Given the description of an element on the screen output the (x, y) to click on. 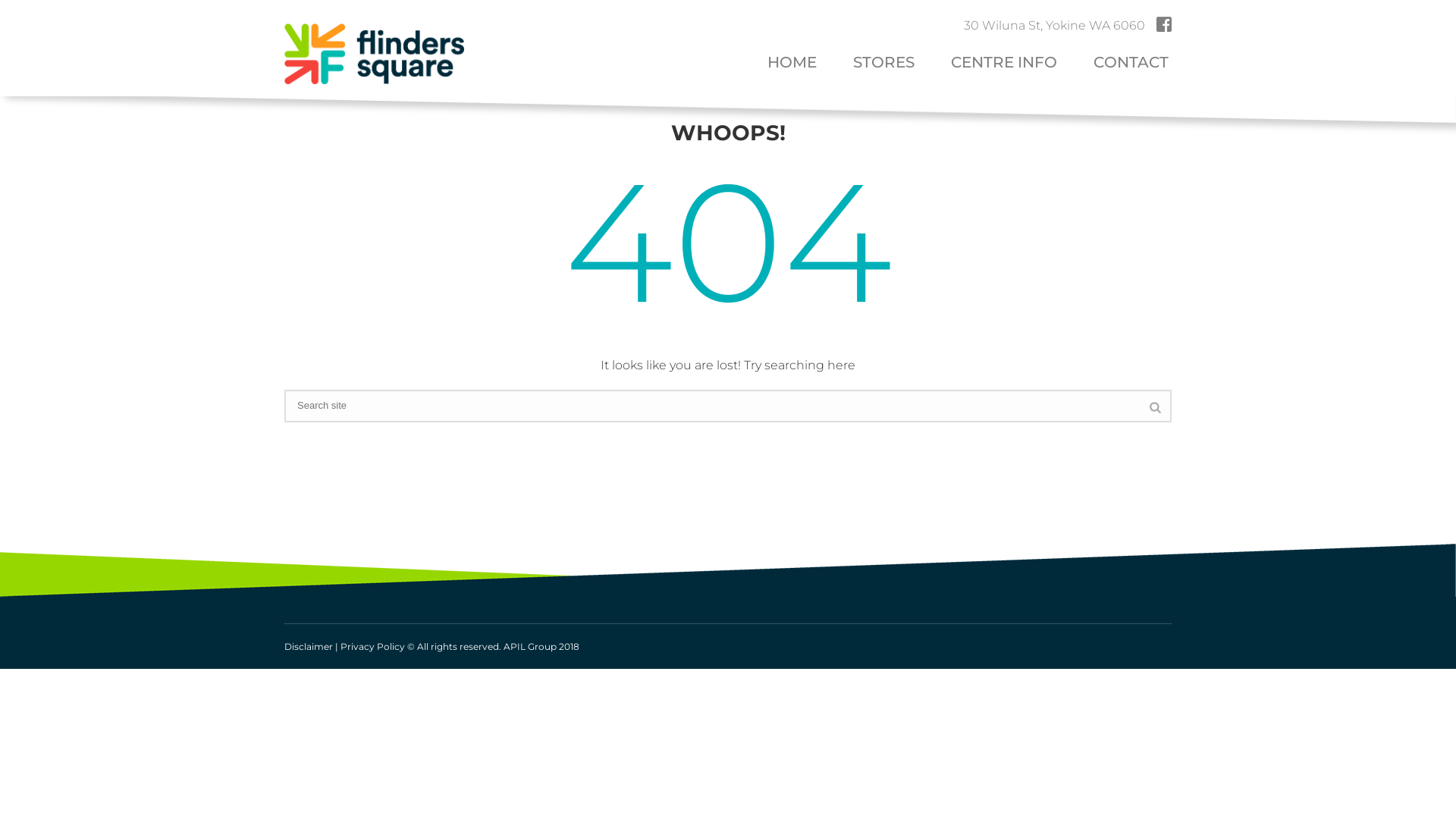
CENTRE INFO Element type: text (1003, 63)
HOME Element type: text (791, 63)
Disclaimer Element type: text (308, 646)
STORES Element type: text (883, 63)
CONTACT Element type: text (1130, 63)
